Given the description of an element on the screen output the (x, y) to click on. 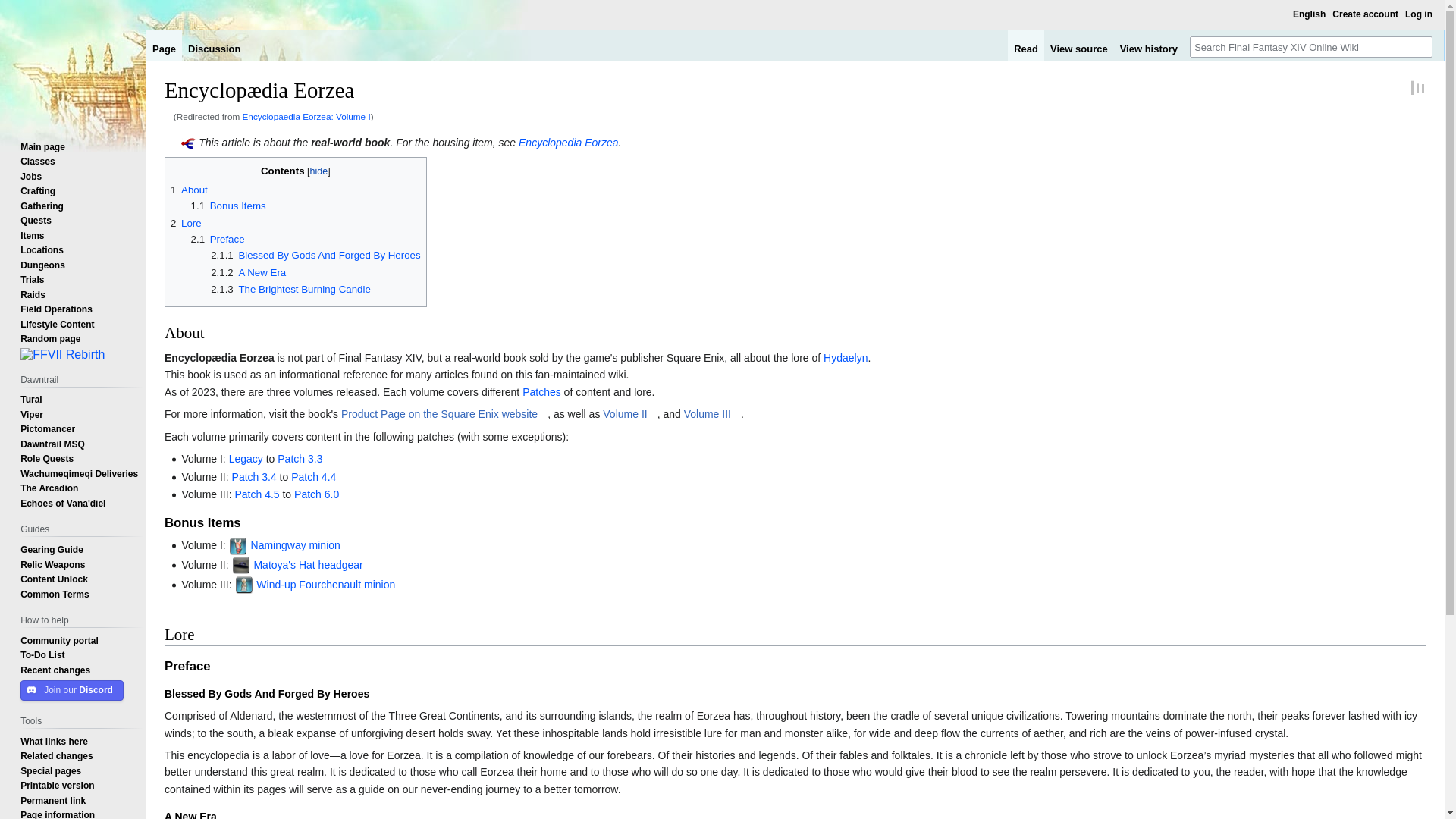
Patch 6.0 (316, 494)
Namingway (277, 544)
Matoya's Hat (283, 564)
Patch 4.5 (256, 494)
Minions (379, 584)
Patch 3.4 (253, 476)
Wind-up Fourchenault (308, 584)
2 Lore (186, 223)
Wind-up Fourchenault (308, 584)
